Given the description of an element on the screen output the (x, y) to click on. 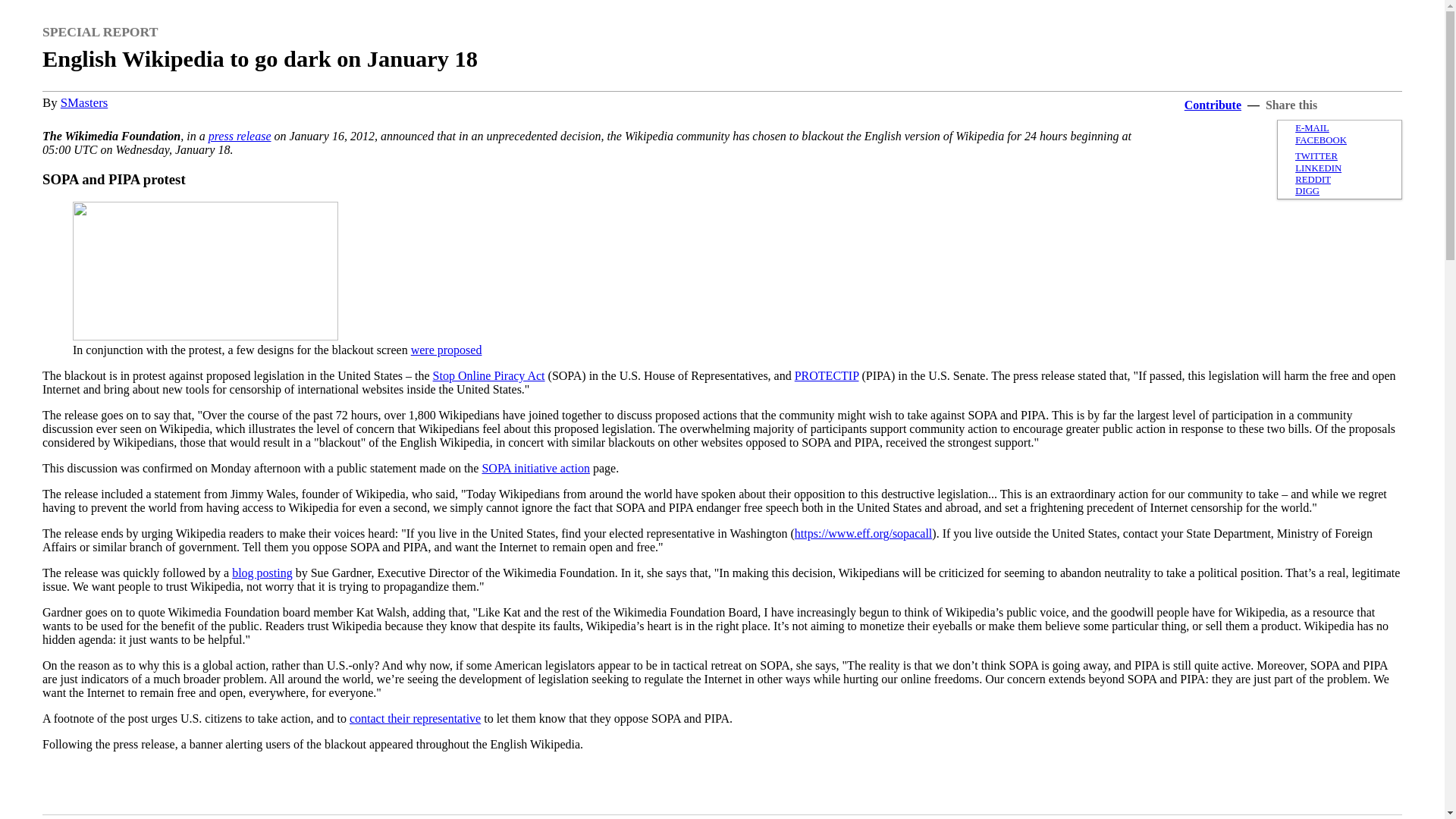
User:SMasters (84, 102)
were proposed (445, 349)
LINKEDIN (1317, 167)
Contribute (1213, 104)
REDDIT (1312, 179)
SMasters (84, 102)
Stop Online Piracy Act (488, 375)
FACEBOOK (1320, 140)
blog posting (261, 572)
TWITTER (1316, 155)
press release (239, 135)
PROTECT IP Act (826, 375)
contact their representative (414, 717)
DIGG (1307, 190)
Stop Online Piracy Act (488, 375)
